Given the description of an element on the screen output the (x, y) to click on. 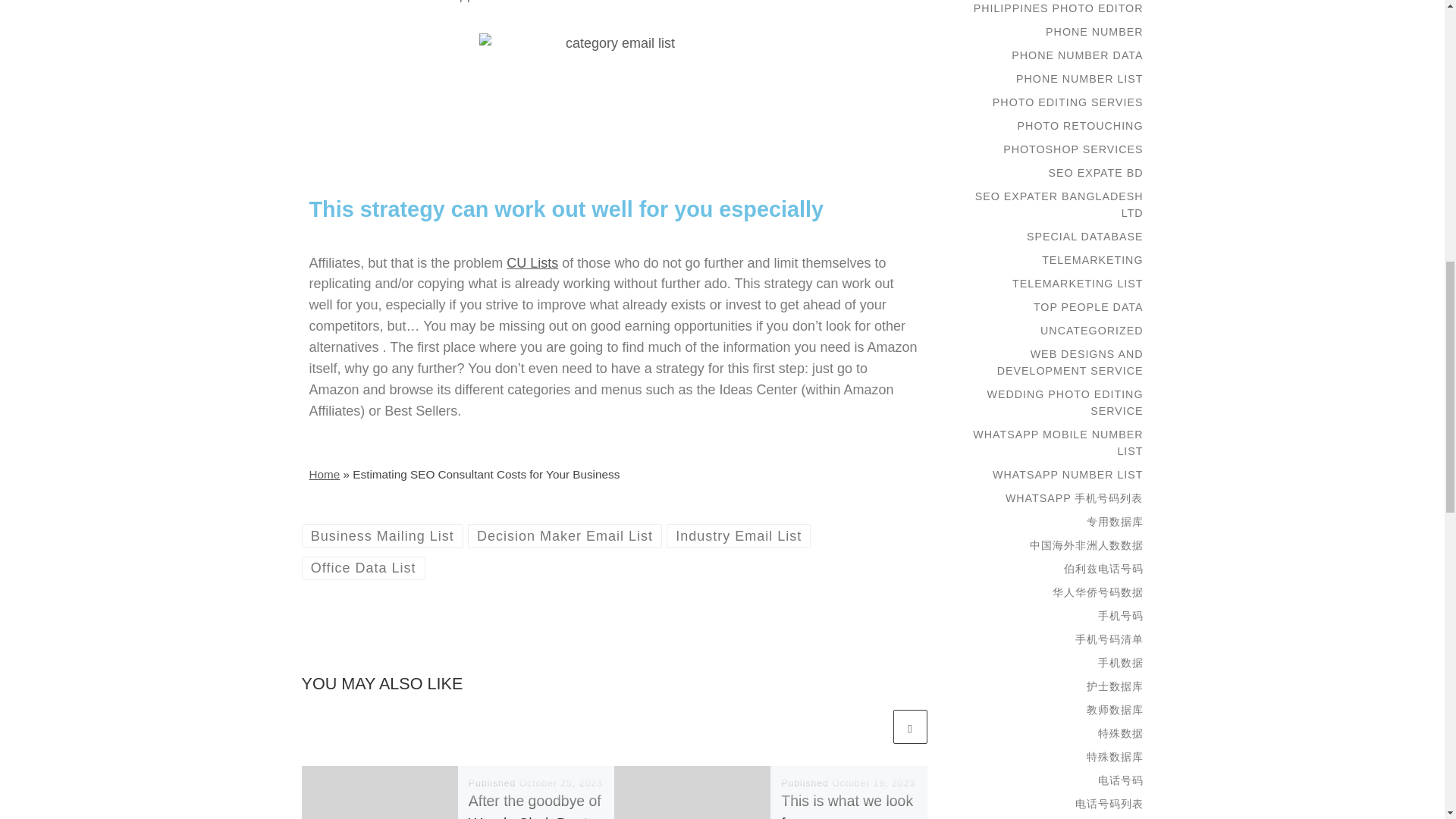
Business Mailing List (382, 535)
Previous related articles (872, 726)
Next related articles (910, 726)
View all posts in Industry Email List (738, 535)
Decision Maker Email List (564, 535)
Industry Email List (738, 535)
Office Data List (363, 567)
After the goodbye of Wendy Clark Dentsu restructures (536, 805)
View all posts in Business Mailing List (382, 535)
CU Lists (531, 262)
